Given the description of an element on the screen output the (x, y) to click on. 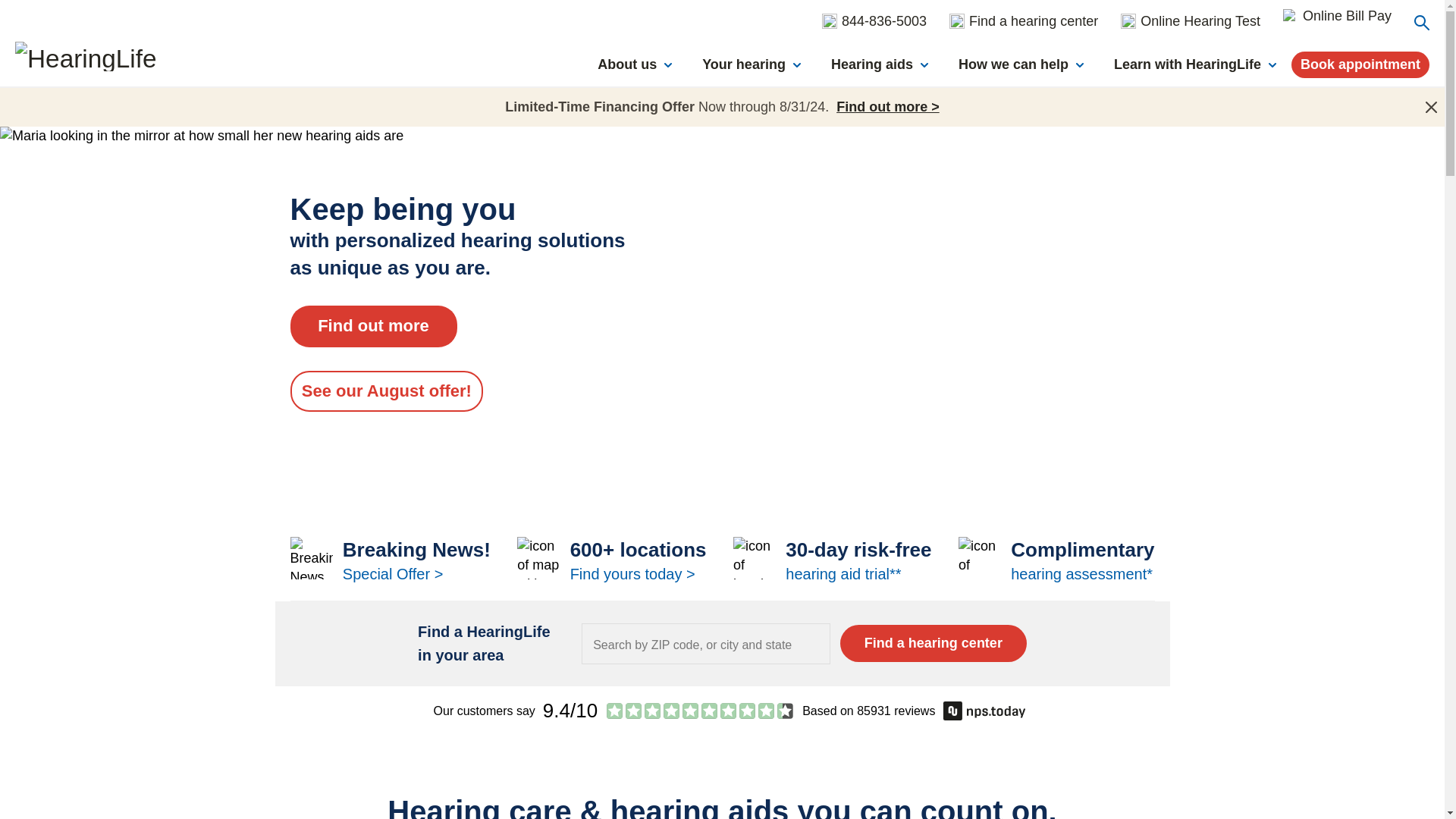
Find a hearing center (933, 642)
Your hearing (750, 65)
About us (633, 65)
Learn More (1056, 560)
